Given the description of an element on the screen output the (x, y) to click on. 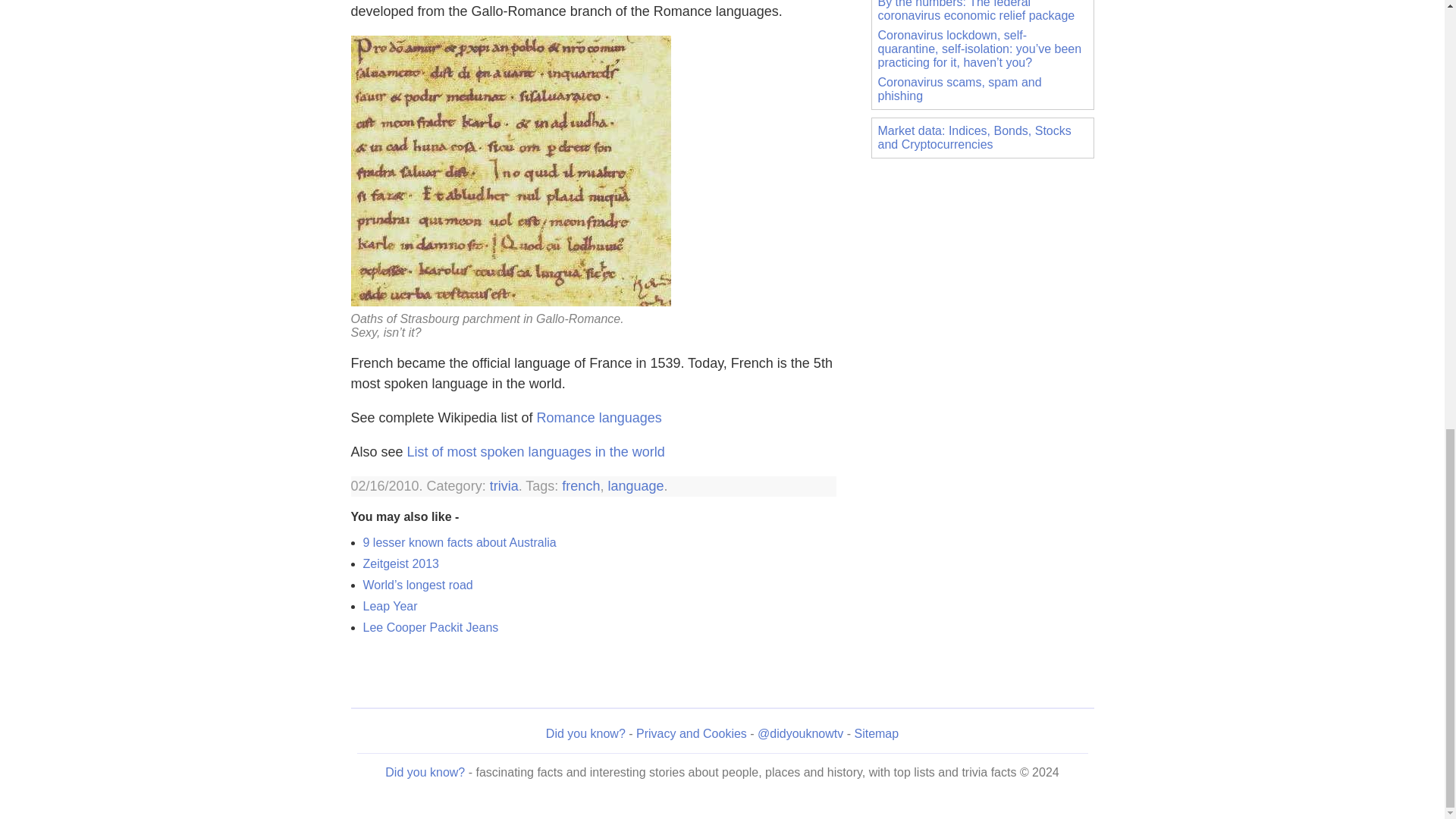
Zeitgeist 2013 (400, 563)
Leap Year (389, 605)
List of most spoken languages in the world (536, 451)
Romance languages (599, 417)
trivia (503, 485)
9 lesser known facts about Australia (459, 542)
9 lesser known facts about Australia (459, 542)
Leap Year (389, 605)
Zeitgeist 2013 (400, 563)
language (635, 485)
